Given the description of an element on the screen output the (x, y) to click on. 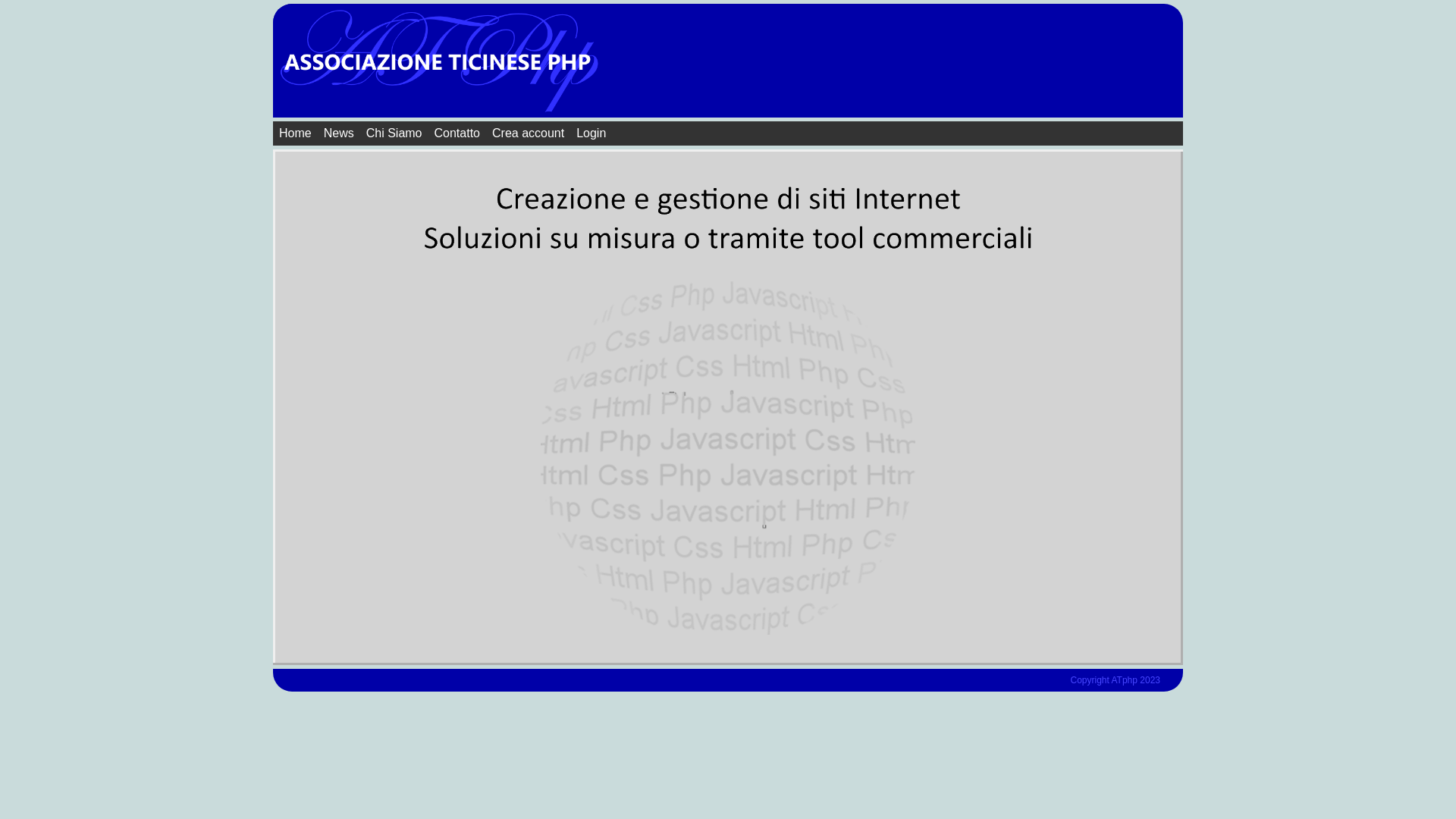
Login Element type: text (590, 133)
Chi Siamo Element type: text (394, 133)
News Element type: text (338, 133)
Home Element type: text (295, 133)
Contatto Element type: text (457, 133)
Crea account Element type: text (528, 133)
